Given the description of an element on the screen output the (x, y) to click on. 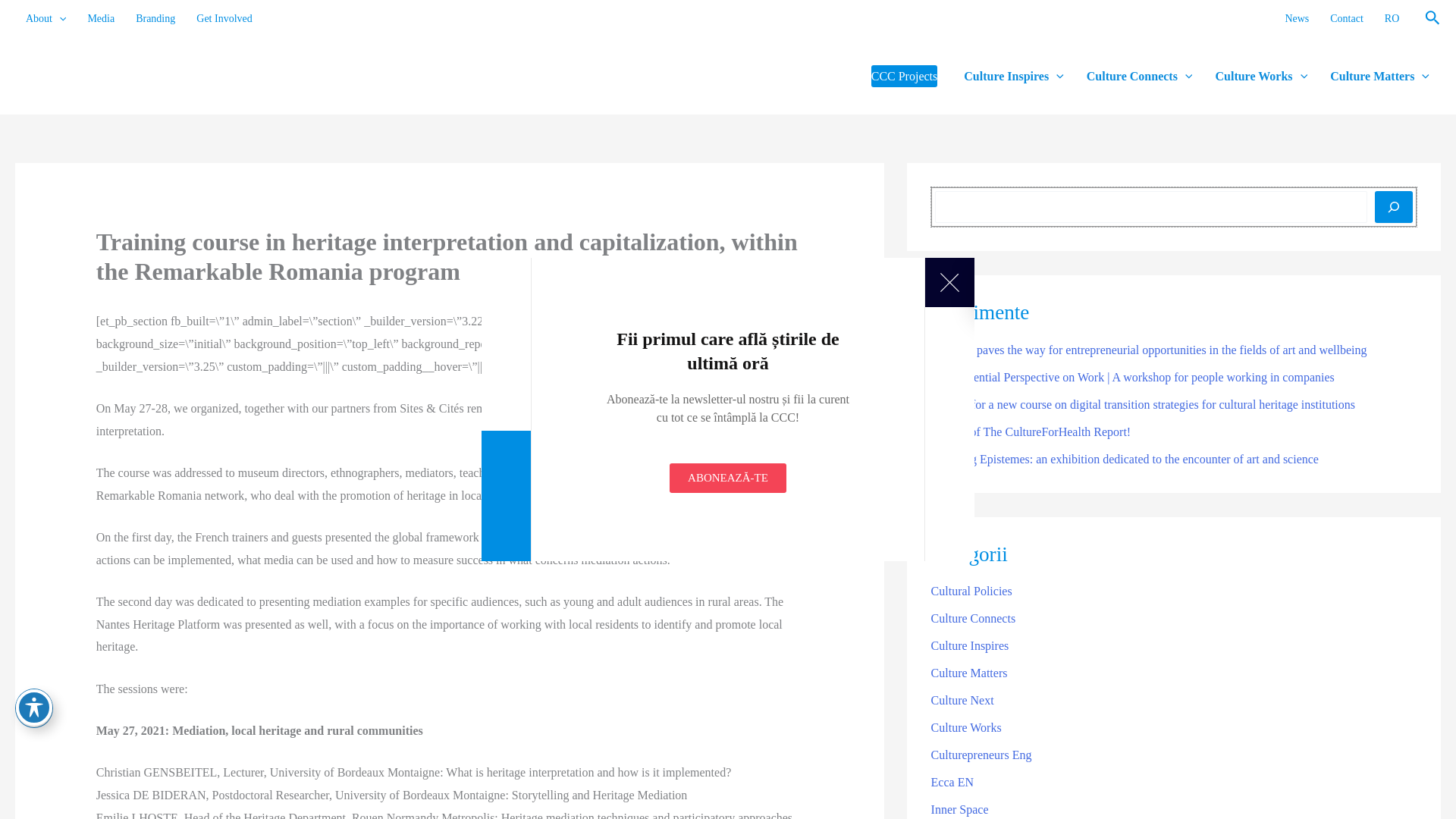
About (45, 18)
Branding (155, 18)
CCC Projects (903, 76)
News (1296, 18)
Culture Inspires (1013, 76)
Culture Matters (1380, 76)
Culture Connects (1139, 76)
Media (101, 18)
Contact (1346, 18)
Get Involved (224, 18)
Culture Works (1261, 76)
RO (1391, 18)
